Given the description of an element on the screen output the (x, y) to click on. 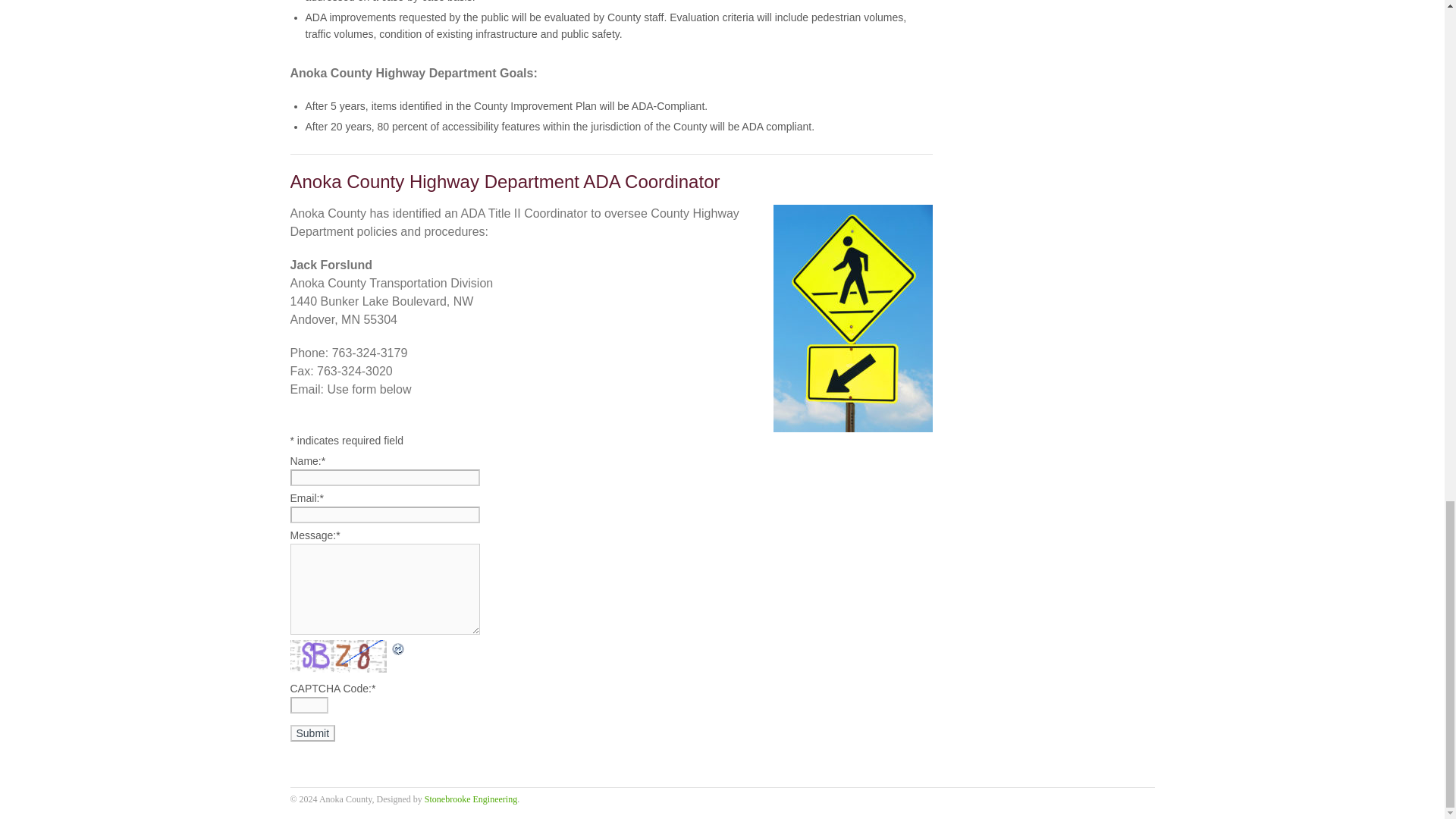
Submit (311, 733)
Submit (311, 733)
CAPTCHA (339, 655)
Stonebrooke Engineering (470, 798)
Refresh (398, 648)
